Given the description of an element on the screen output the (x, y) to click on. 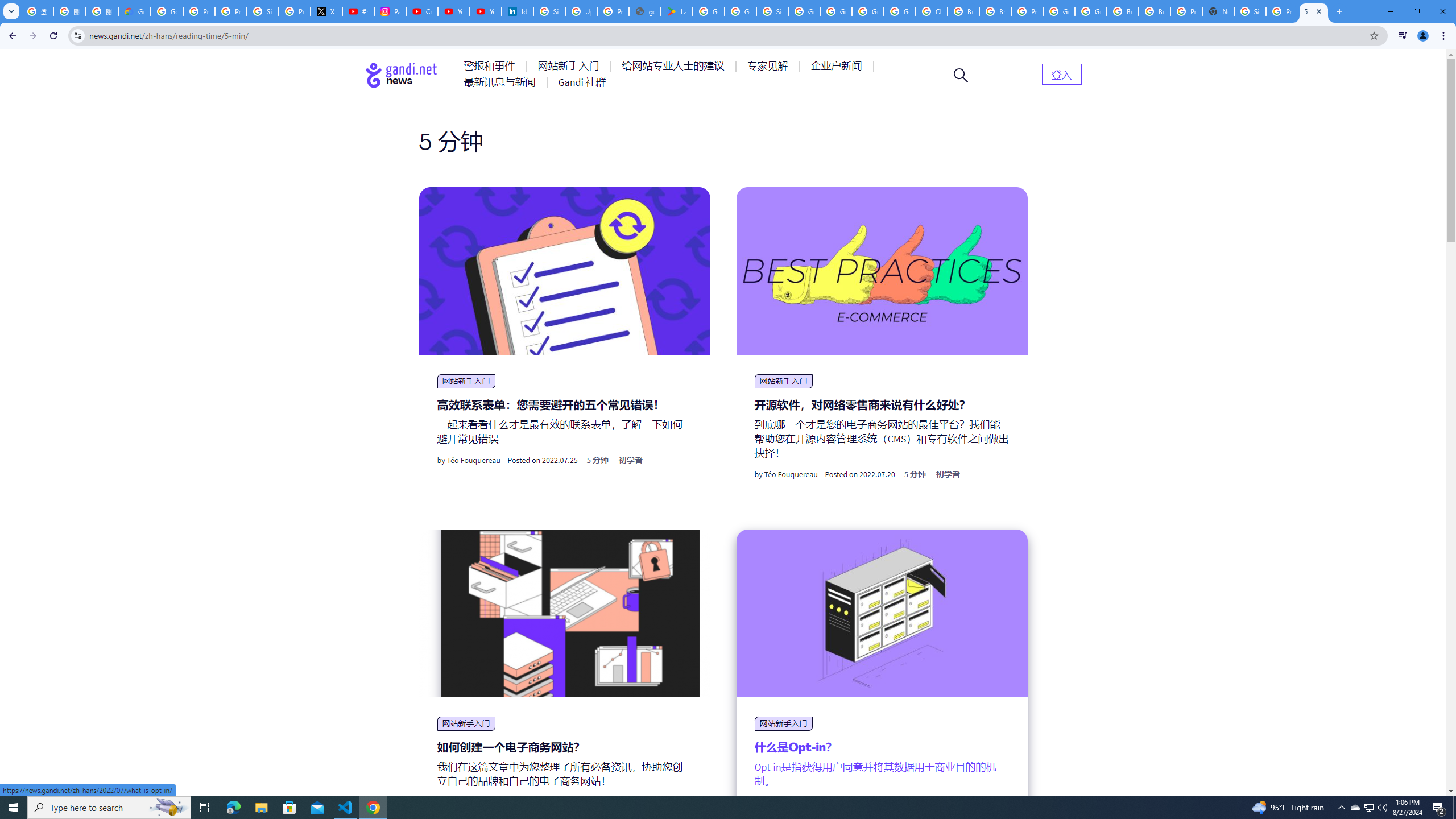
Privacy Help Center - Policies Help (198, 11)
New Tab (1217, 11)
Last Shelter: Survival - Apps on Google Play (676, 11)
X (326, 11)
AutomationID: menu-item-77766 (502, 82)
AutomationID: menu-item-77765 (838, 65)
Google Cloud Platform (1059, 11)
Browse Chrome as a guest - Computer - Google Chrome Help (1123, 11)
